Given the description of an element on the screen output the (x, y) to click on. 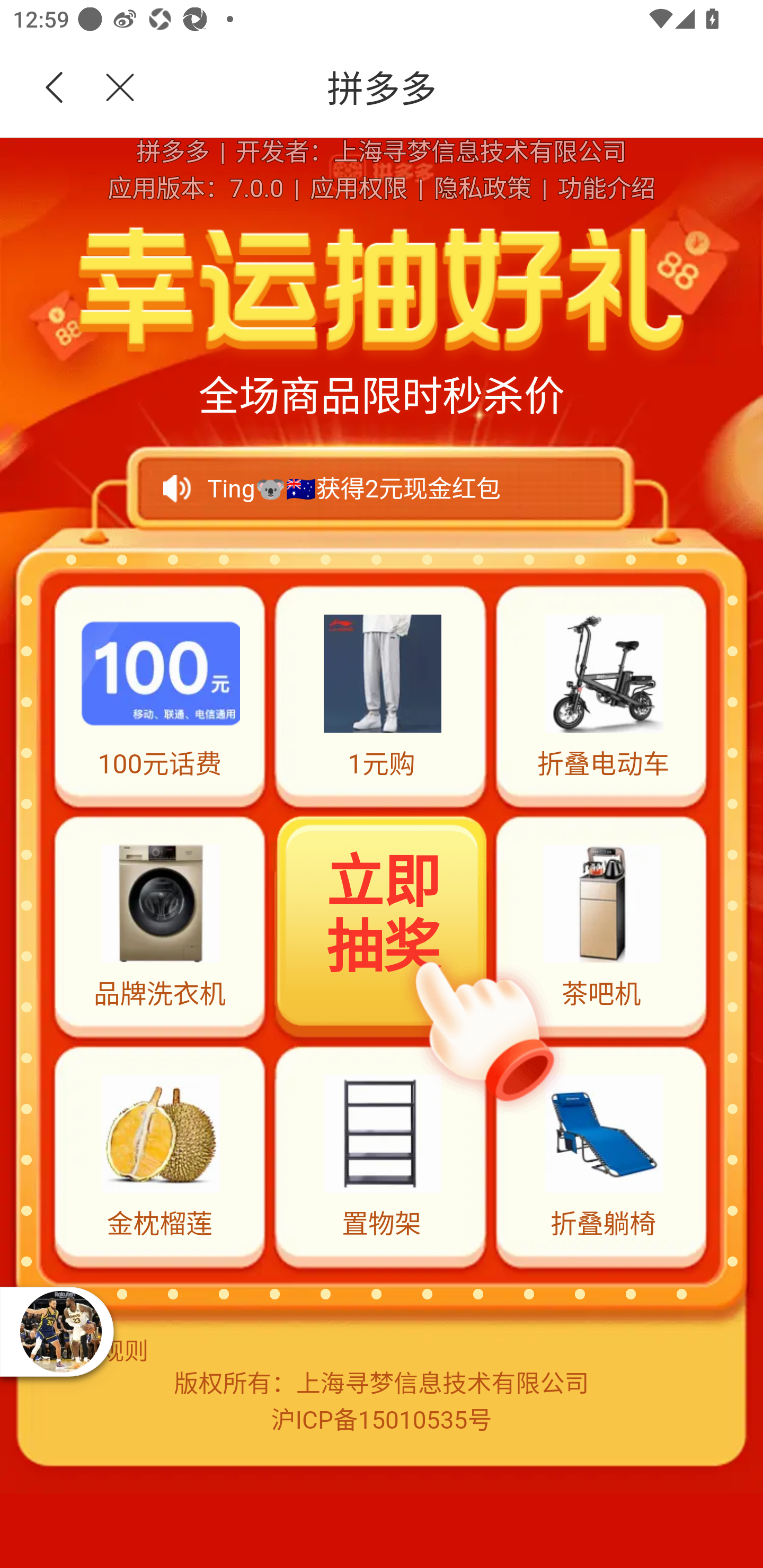
 (109, 87)
拼多多 (451, 87)
 返回 (54, 87)
立即抽奖 (382, 924)
播放器 (60, 1331)
